Given the description of an element on the screen output the (x, y) to click on. 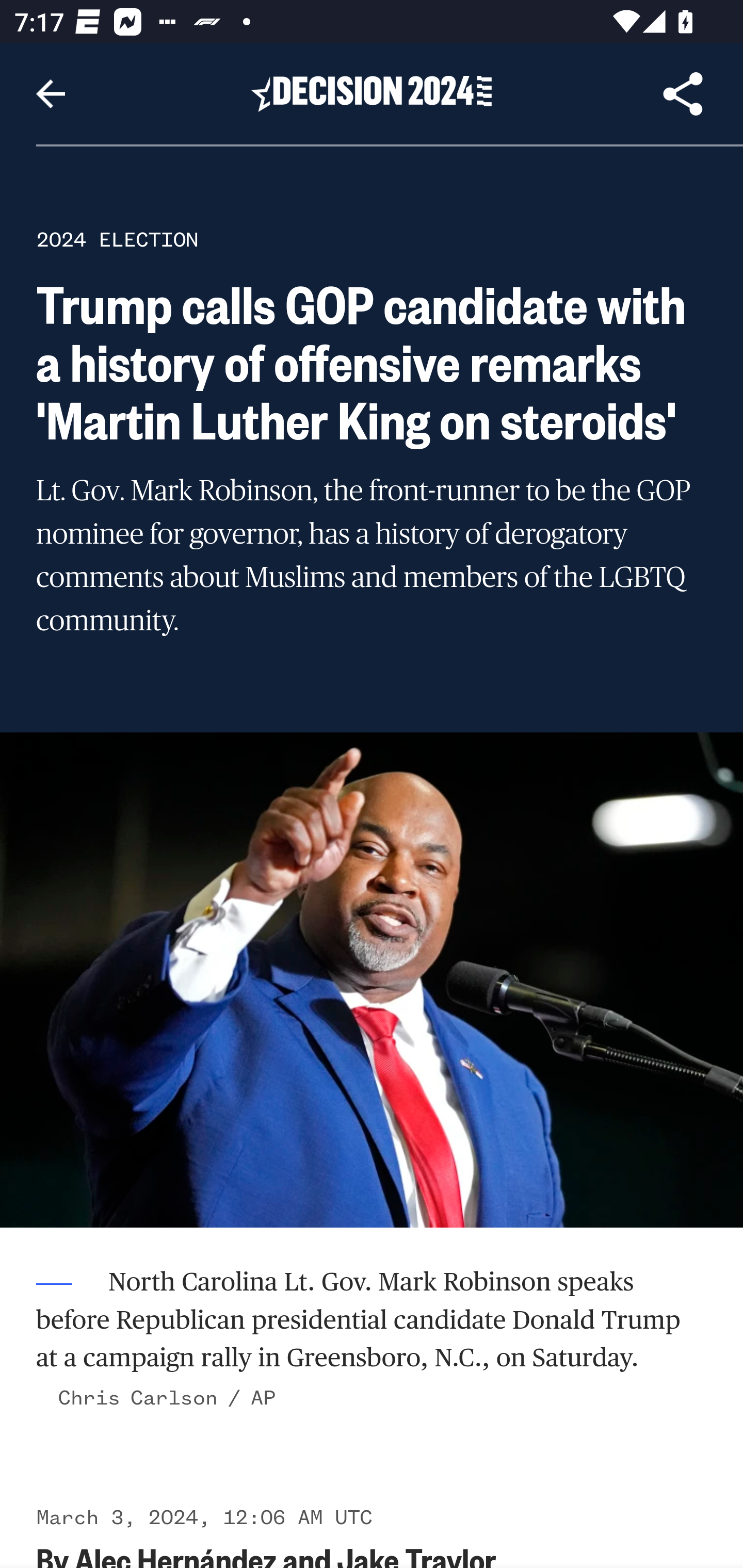
Navigate up (50, 93)
Share Article, button (683, 94)
Header, Decision 2024 (371, 93)
2024 ELECTION (117, 239)
